Given the description of an element on the screen output the (x, y) to click on. 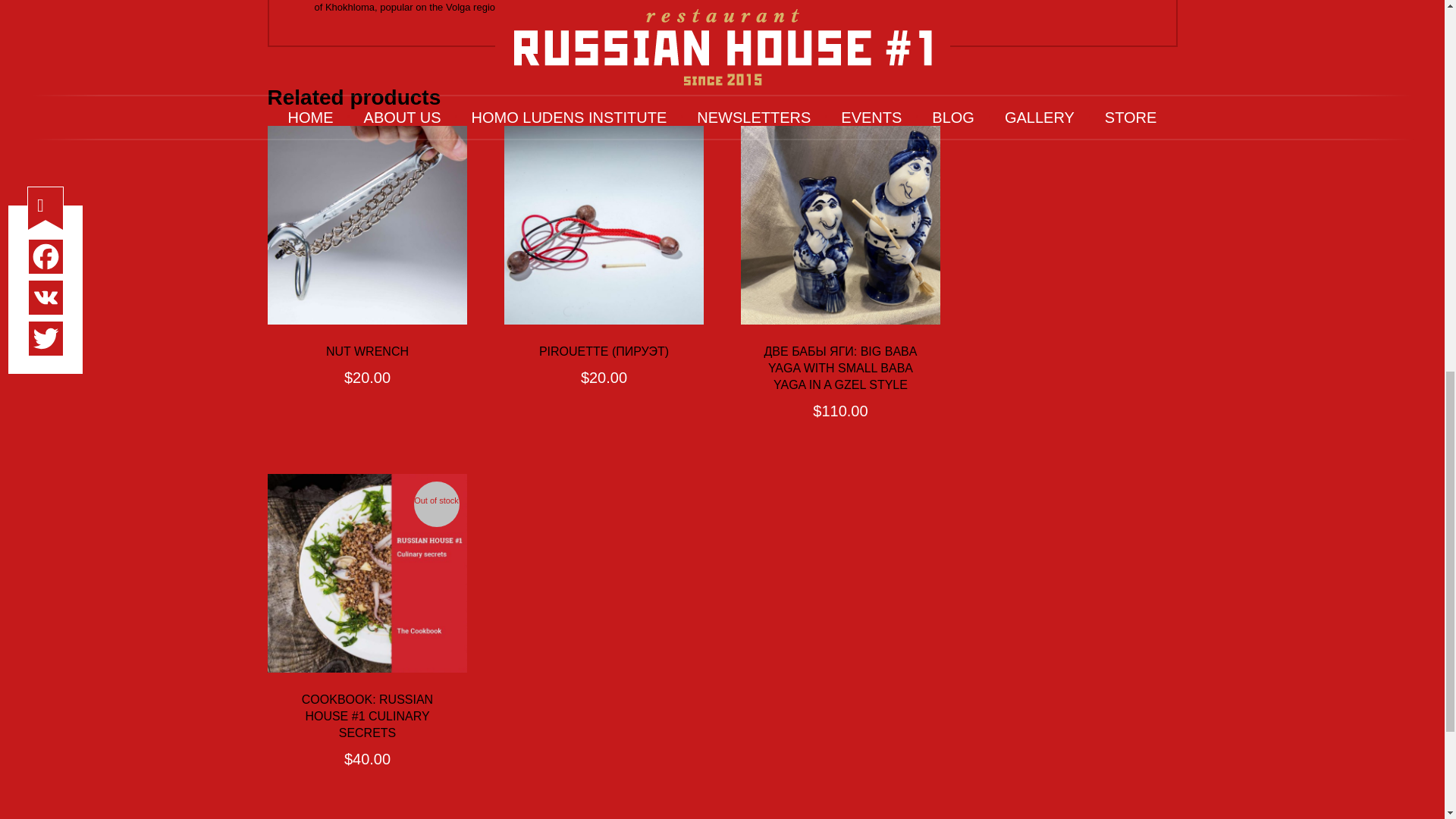
Related products (721, 97)
